Given the description of an element on the screen output the (x, y) to click on. 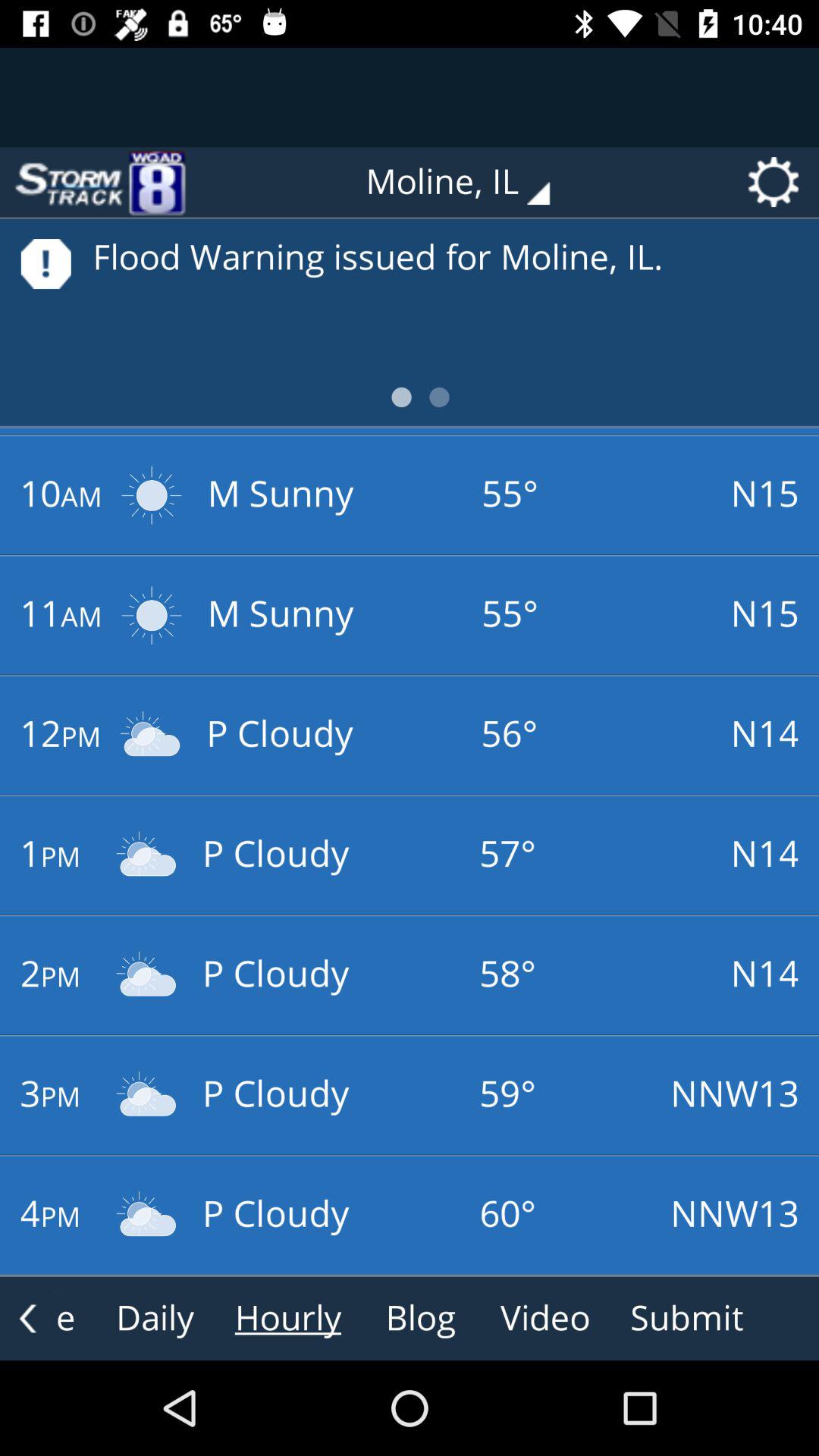
tap the item next to moline, il (99, 182)
